Given the description of an element on the screen output the (x, y) to click on. 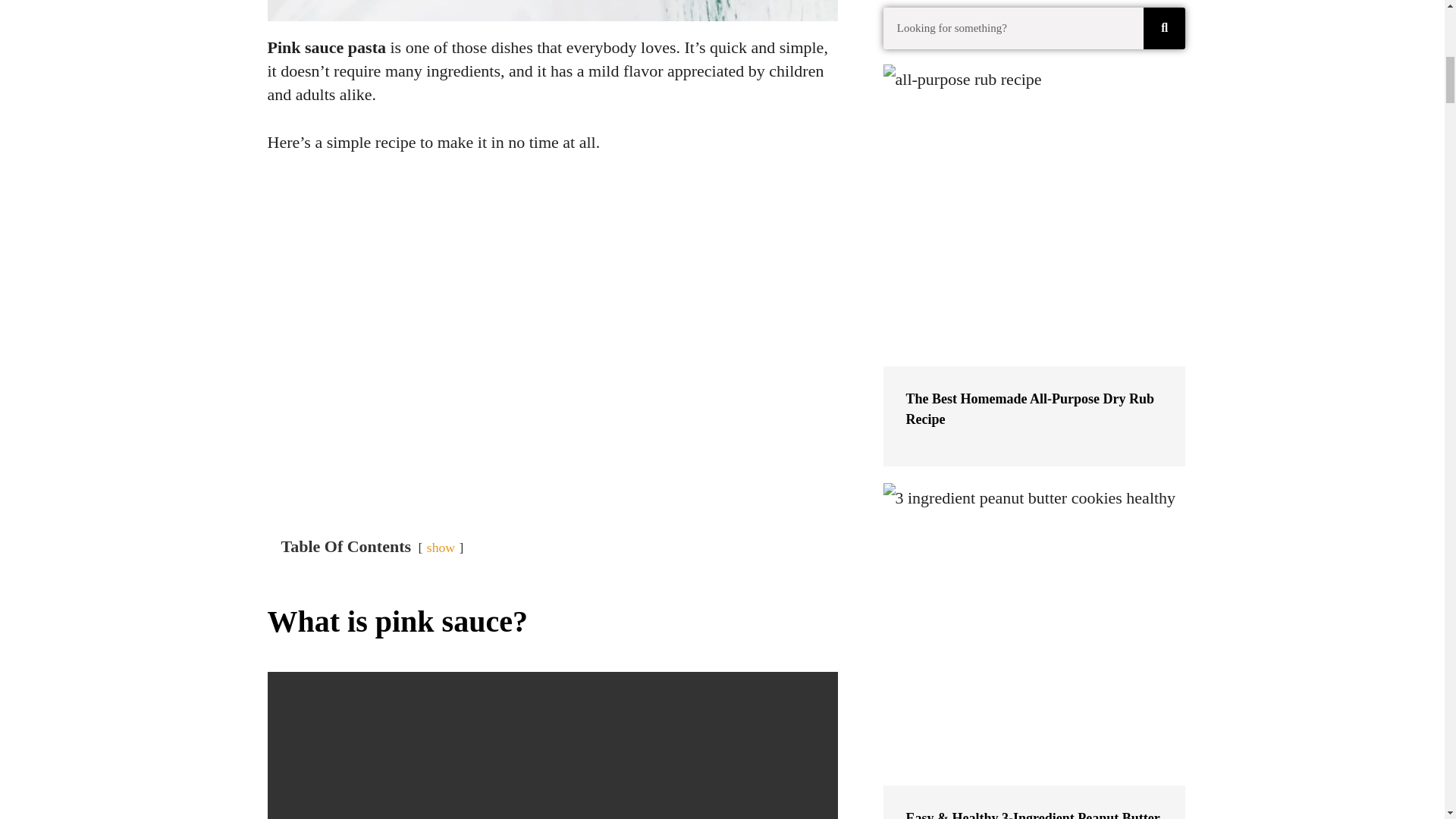
show (440, 547)
